Given the description of an element on the screen output the (x, y) to click on. 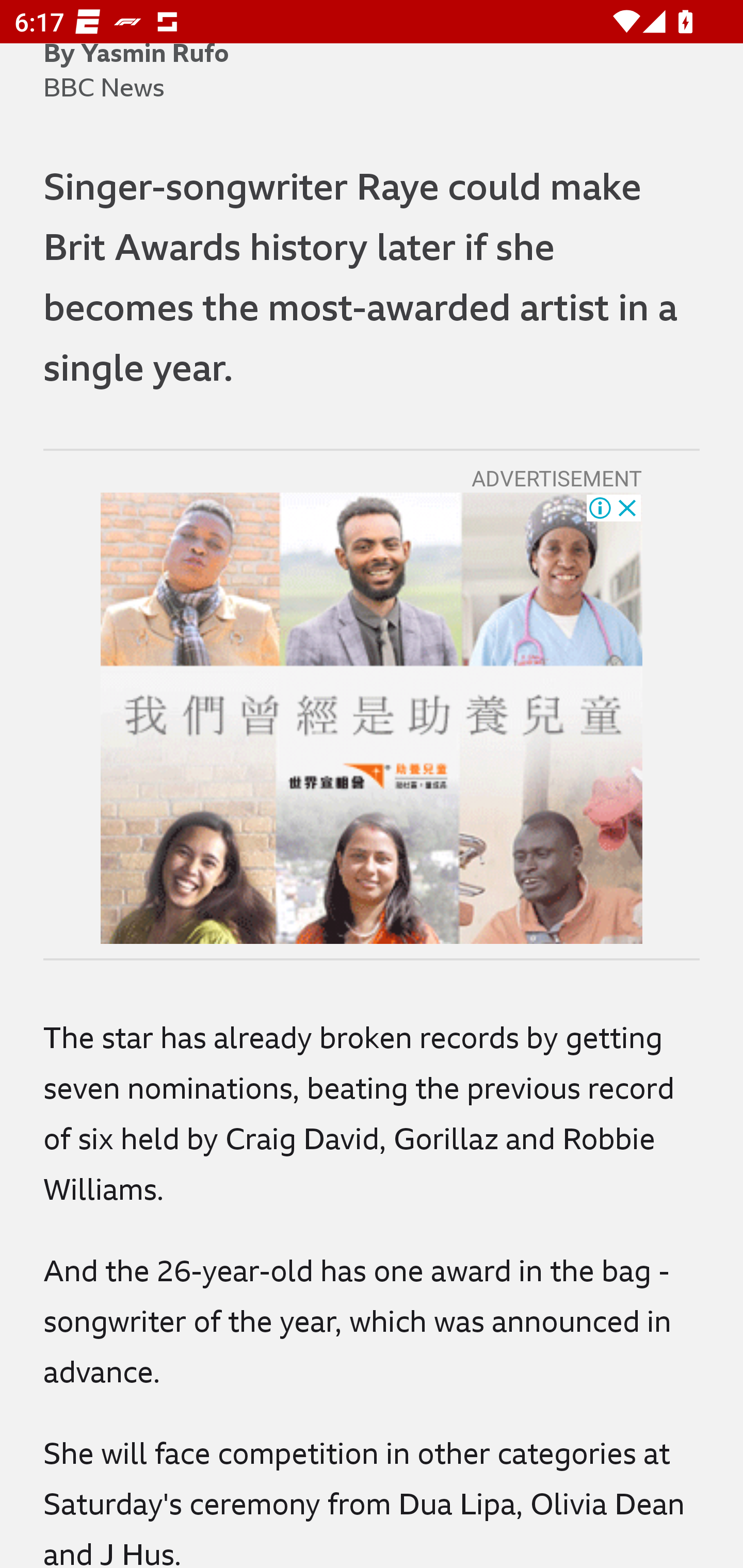
Advertisement (371, 717)
